Given the description of an element on the screen output the (x, y) to click on. 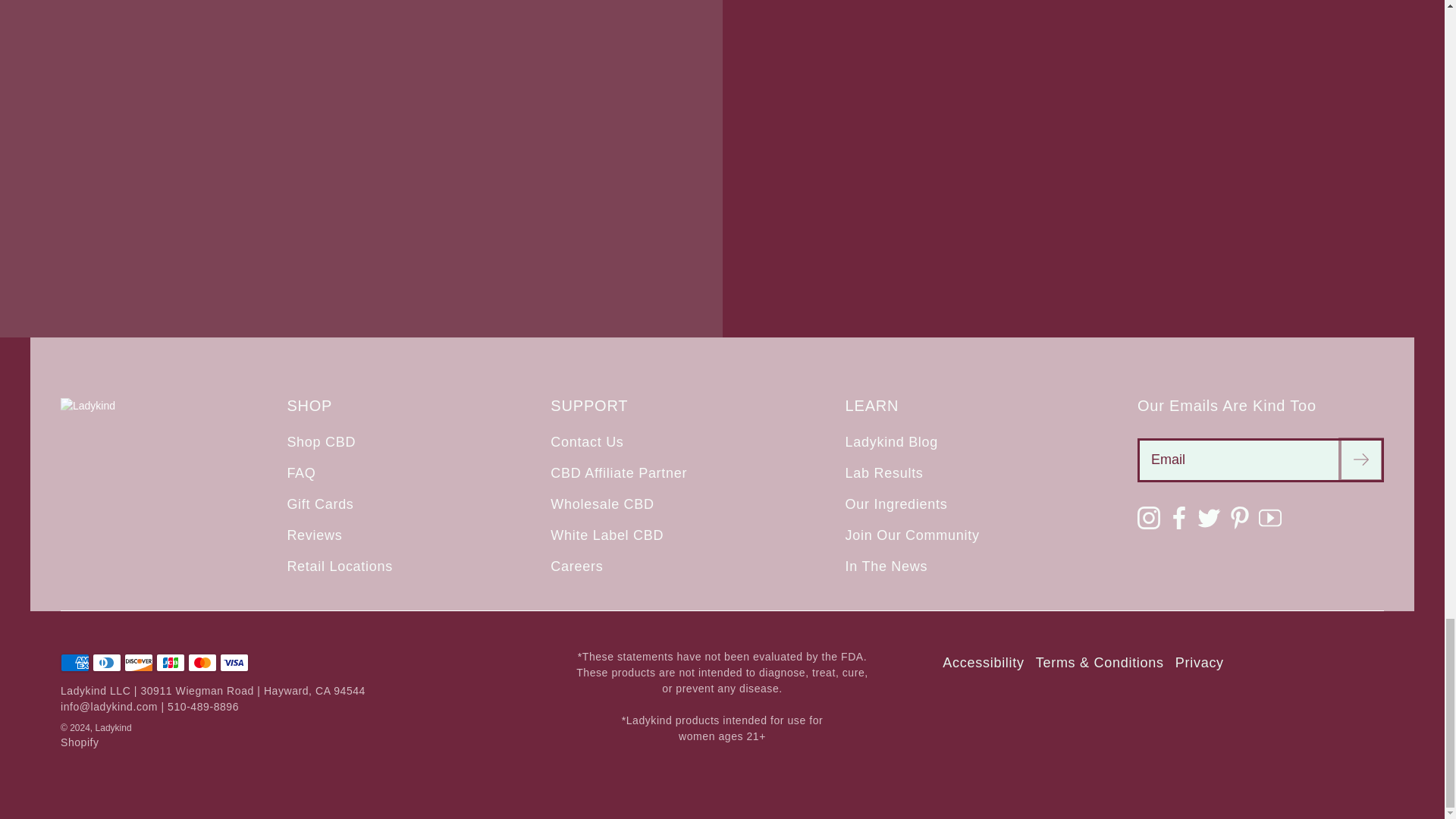
Diners Club (106, 662)
Visa (233, 662)
Mastercard (201, 662)
JCB (169, 662)
Discover (137, 662)
American Express (74, 662)
